Given the description of an element on the screen output the (x, y) to click on. 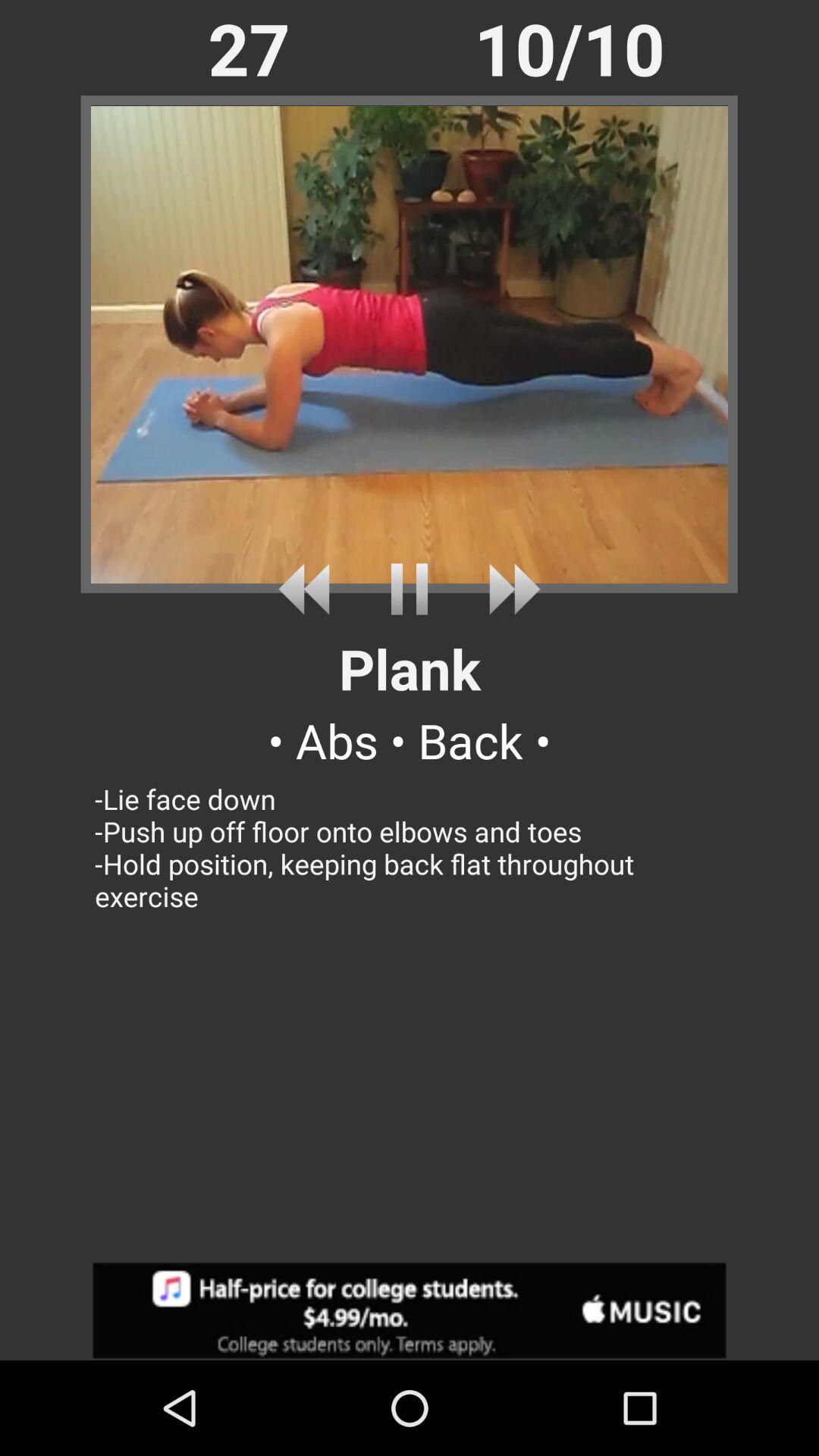
go to previous (309, 589)
